Given the description of an element on the screen output the (x, y) to click on. 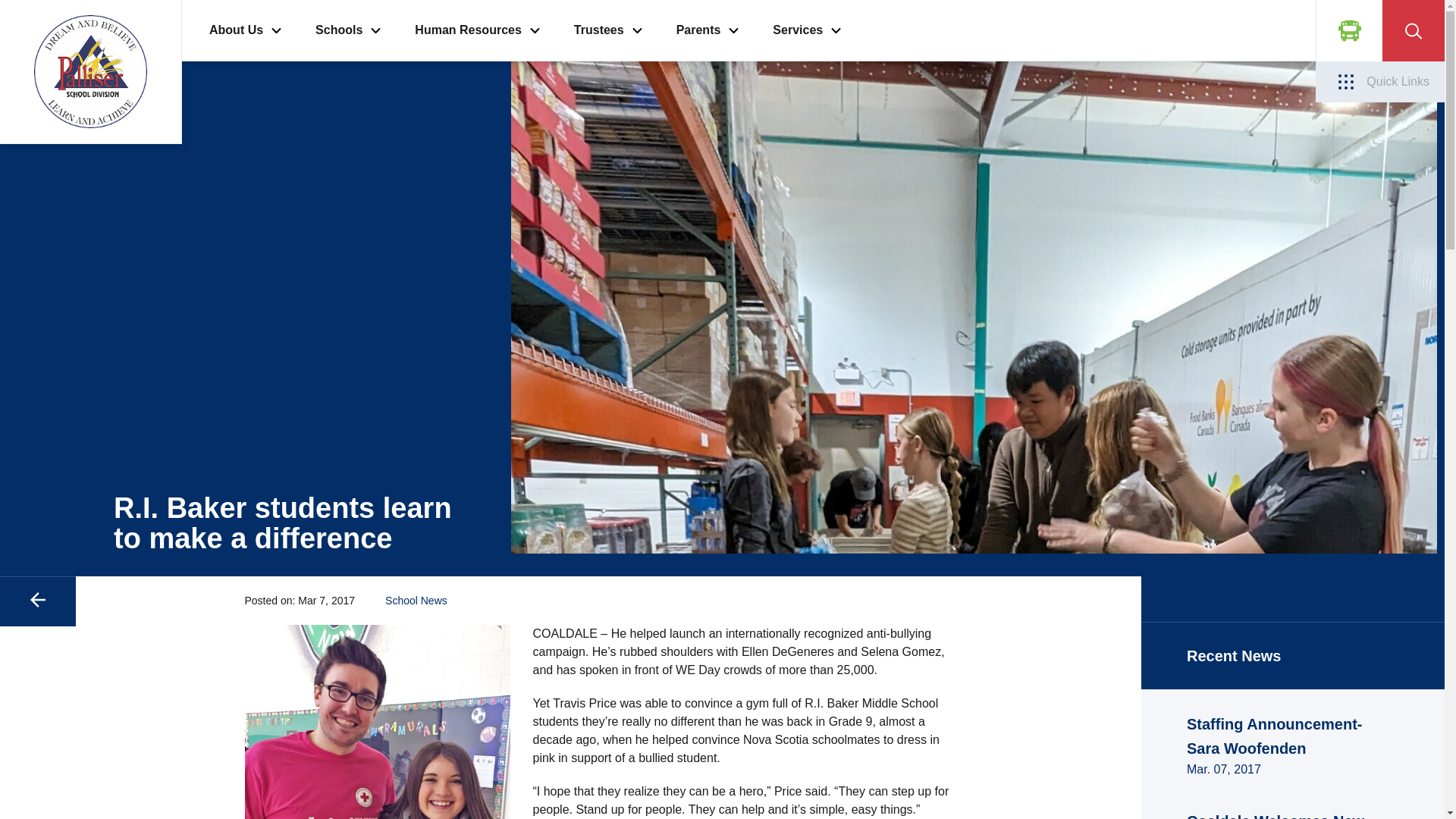
Open quick links (1380, 81)
Trustees (598, 30)
Bus Status (1348, 30)
Toggle next menu level (276, 29)
Palliser School Division (91, 72)
Toggle next menu level (534, 29)
Open search (1412, 30)
Toggle next menu level (637, 29)
Human Resources (467, 30)
About Us (236, 30)
Schools (338, 30)
Toggle next menu level (375, 29)
